Given the description of an element on the screen output the (x, y) to click on. 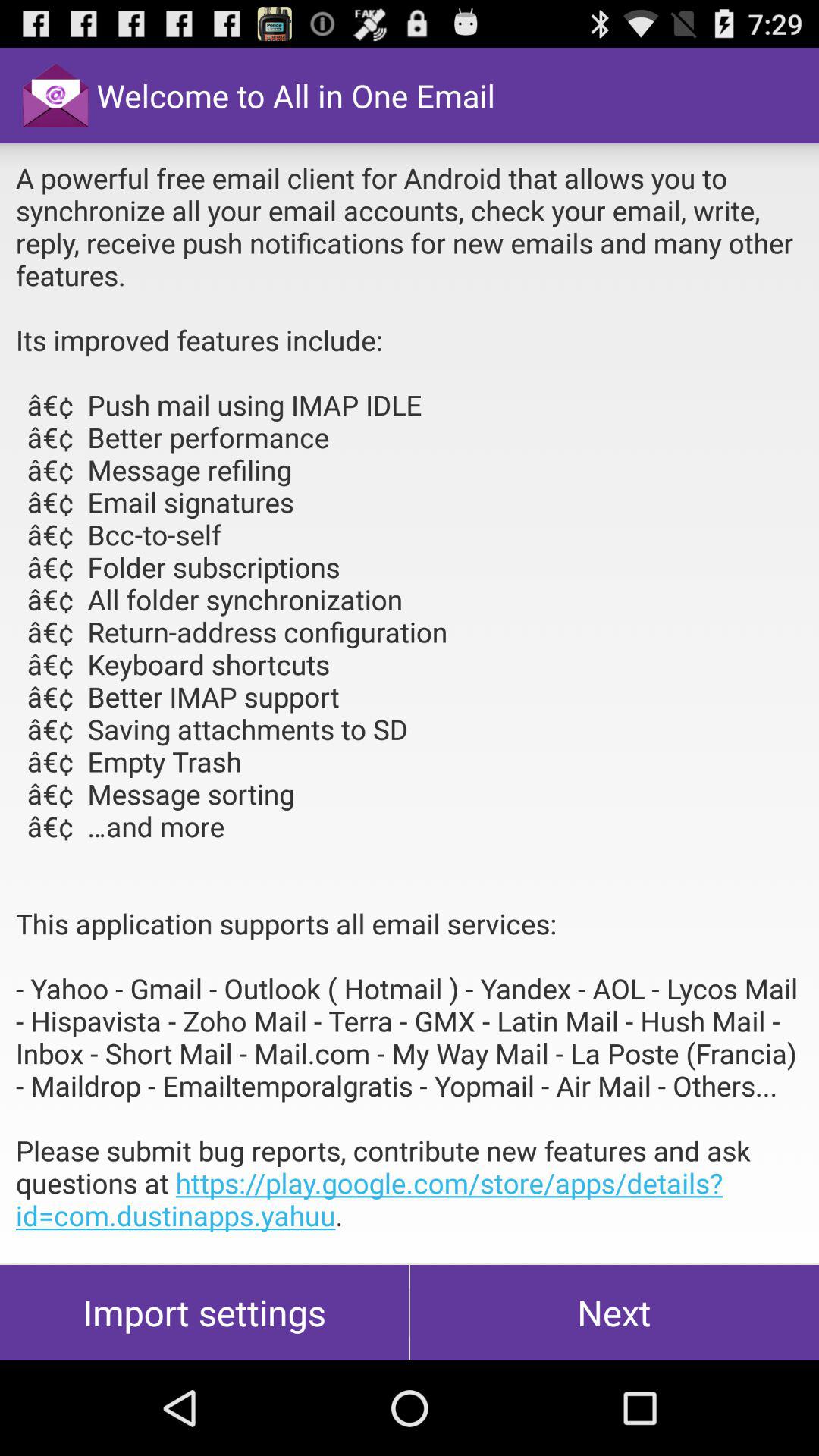
press the import settings (204, 1312)
